Given the description of an element on the screen output the (x, y) to click on. 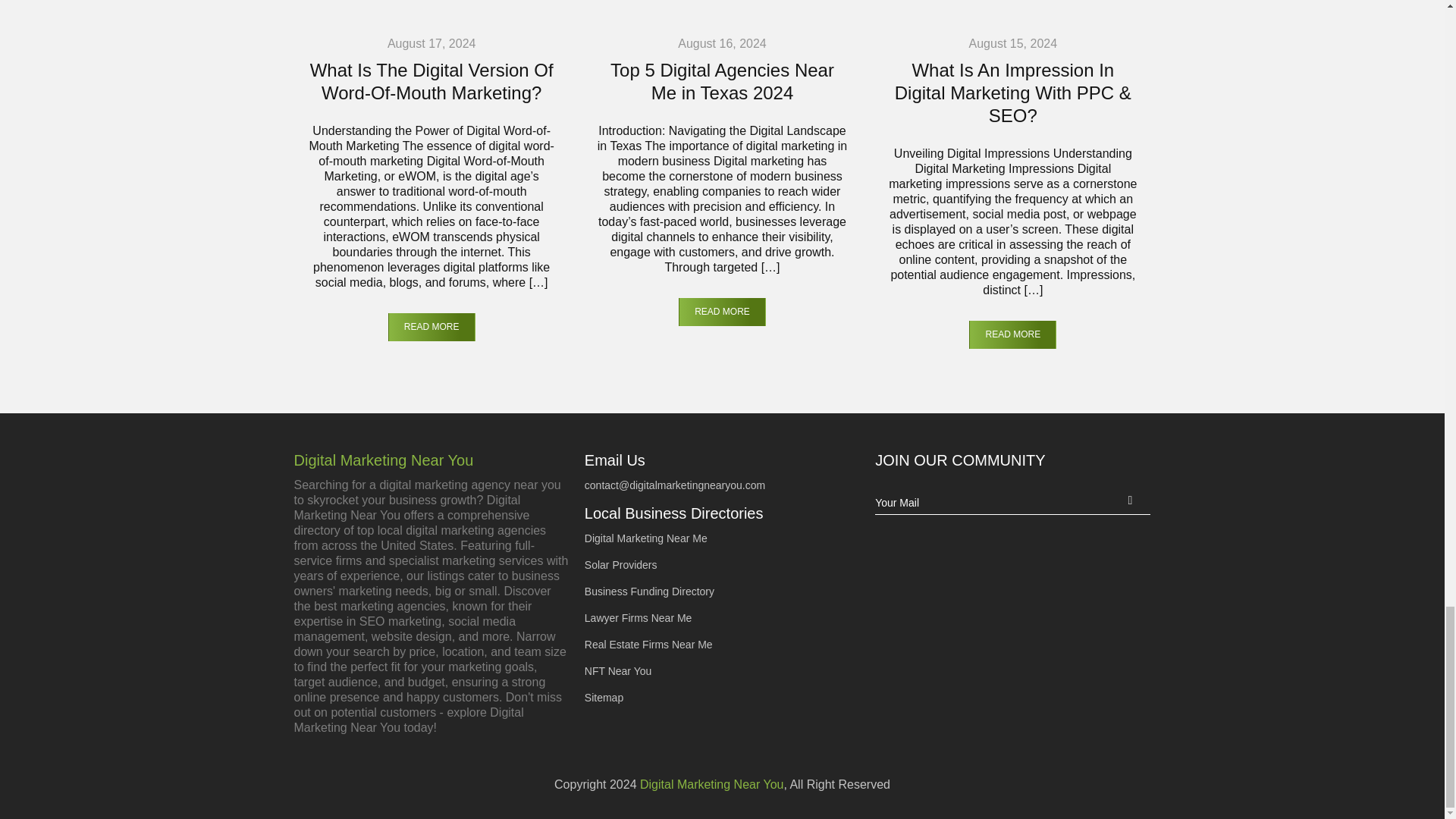
Digital Marketing Near Me (646, 538)
What Is The Digital Version Of Word-Of-Mouth Marketing? (430, 81)
Digital Marketing Near You (711, 784)
Solar Providers (621, 564)
Top 5 Digital Agencies Near Me in Texas 2024 (721, 81)
Digital Marketing Near You (431, 460)
Real Estate Firms Near Me (649, 644)
Lawyer Firms Near Me (639, 617)
READ MORE (1013, 334)
NFT Near You (617, 671)
